Given the description of an element on the screen output the (x, y) to click on. 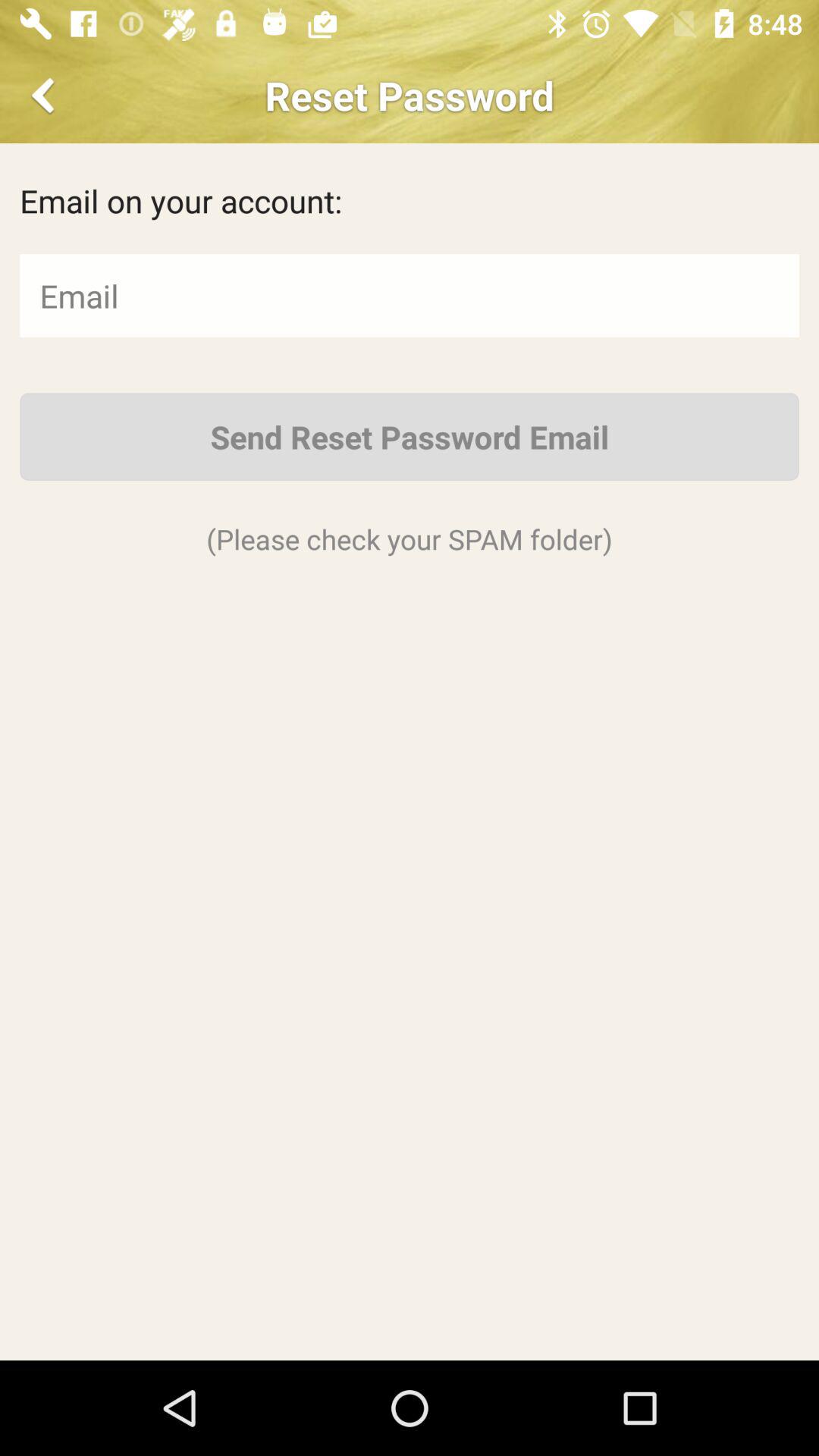
go back (45, 95)
